Given the description of an element on the screen output the (x, y) to click on. 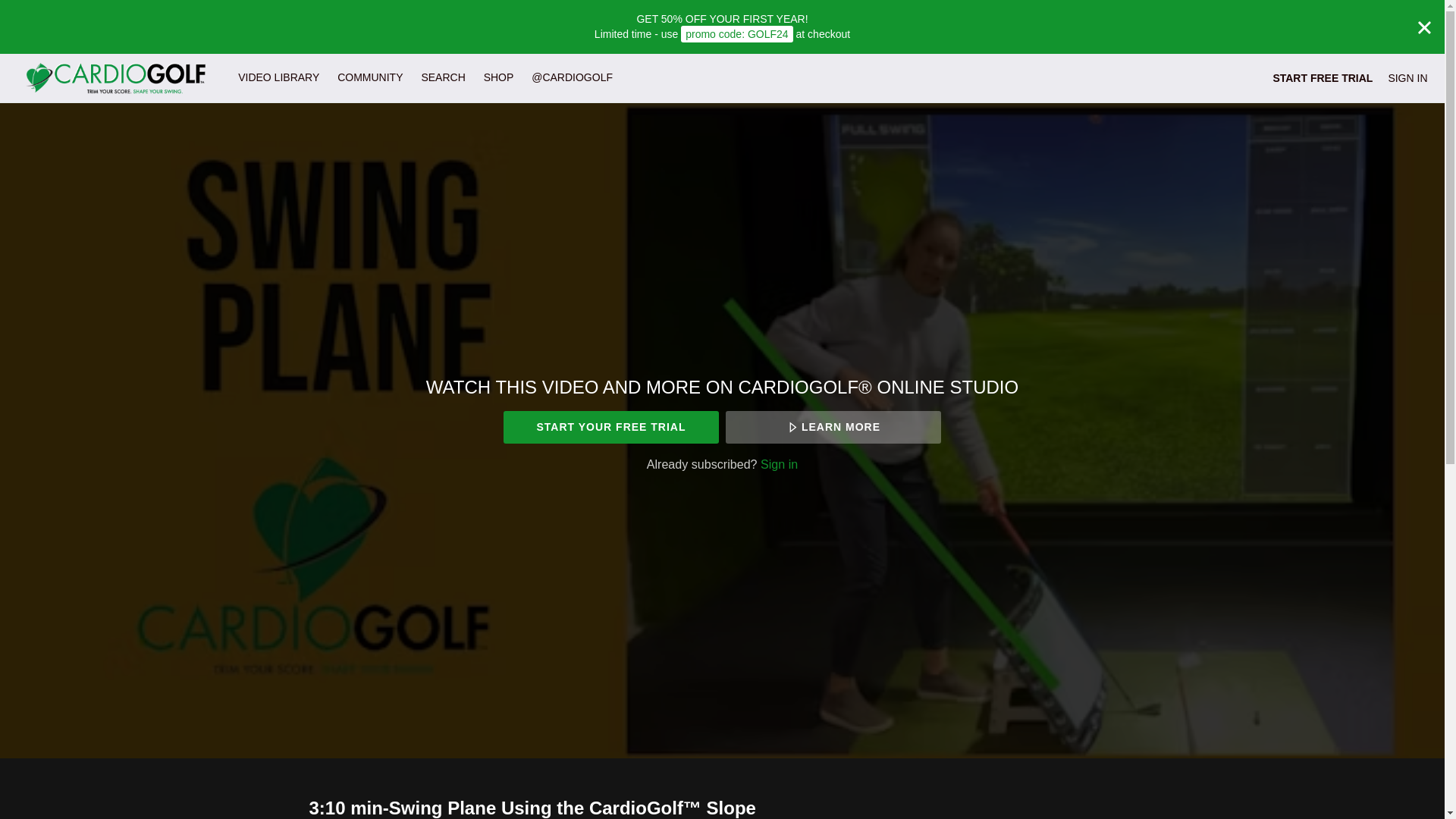
Sign in (778, 463)
SHOP (498, 77)
START FREE TRIAL (1322, 78)
COMMUNITY (370, 77)
VIDEO LIBRARY (278, 77)
Skip to main content (48, 7)
LEARN MORE (832, 427)
START YOUR FREE TRIAL (610, 427)
SEARCH (444, 77)
SIGN IN (1406, 78)
